Given the description of an element on the screen output the (x, y) to click on. 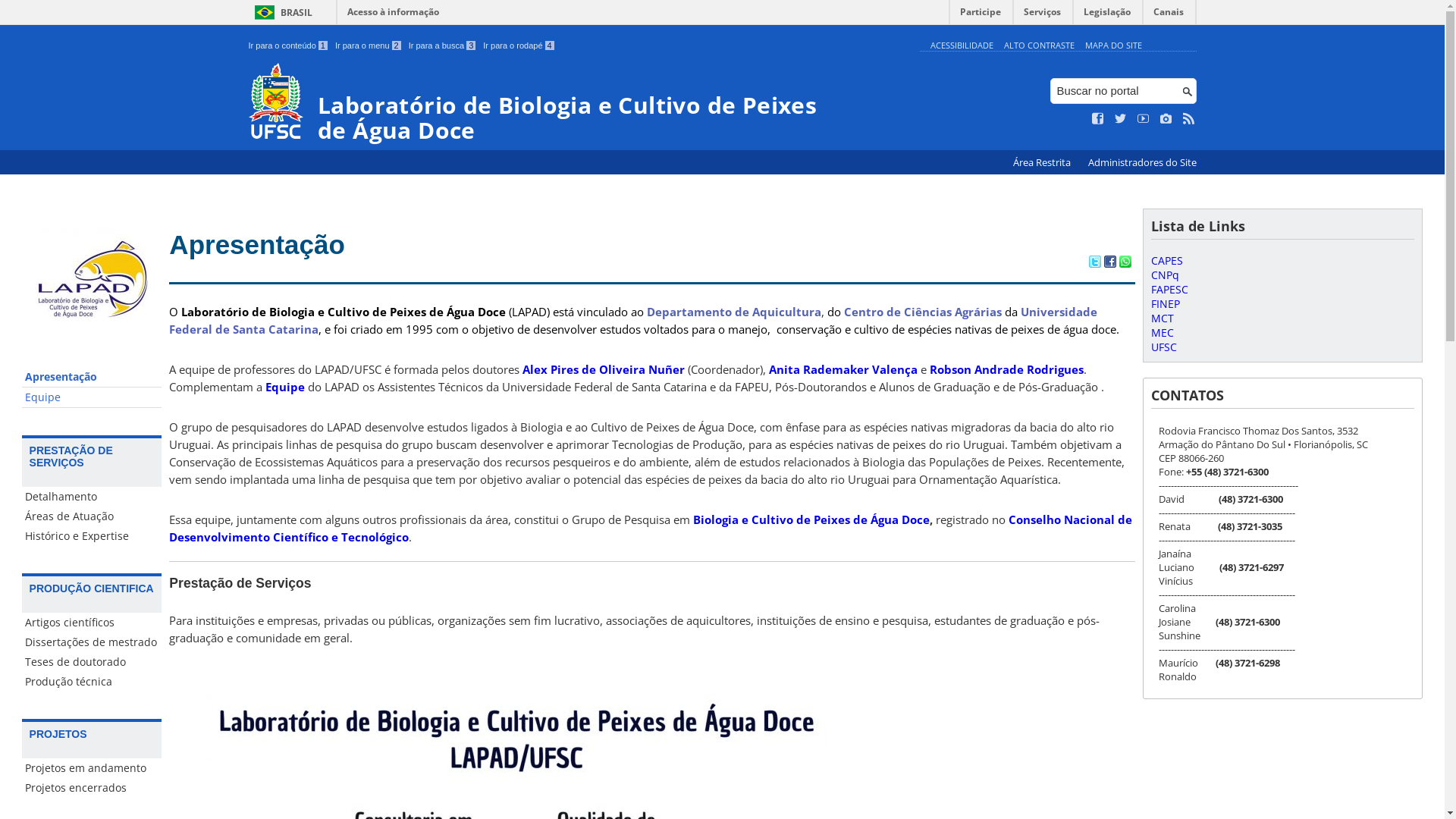
MCT Element type: text (1162, 317)
Siga no Twitter Element type: hover (1120, 118)
Compartilhar no WhatsApp Element type: hover (1125, 262)
FINEP Element type: text (1165, 303)
Participe Element type: text (980, 15)
Canais Element type: text (1169, 15)
Veja no Instagram Element type: hover (1166, 118)
ACESSIBILIDADE Element type: text (960, 44)
Curta no Facebook Element type: hover (1098, 118)
MAPA DO SITE Element type: text (1112, 44)
FAPESC Element type: text (1169, 289)
BRASIL Element type: text (280, 12)
Detalhamento Element type: text (91, 496)
ALTO CONTRASTE Element type: text (1039, 44)
Projetos em andamento Element type: text (91, 768)
Universidade Federal de Santa Catarina Element type: text (633, 320)
Compartilhar no Facebook Element type: hover (1110, 262)
Departamento de Aquicultura Element type: text (733, 311)
Administradores do Site Element type: text (1141, 162)
Equipe Element type: text (91, 397)
Teses de doutorado Element type: text (91, 661)
Projetos encerrados Element type: text (91, 787)
MEC Element type: text (1162, 332)
Robson Andrade Rodrigues Element type: text (1006, 368)
Ir para a busca 3 Element type: text (442, 45)
UFSC Element type: text (1163, 346)
Equipe Element type: text (284, 386)
Ir para o menu 2 Element type: text (368, 45)
Compartilhar no Twitter Element type: hover (1094, 262)
CNPq Element type: text (1165, 274)
CAPES Element type: text (1167, 260)
